Given the description of an element on the screen output the (x, y) to click on. 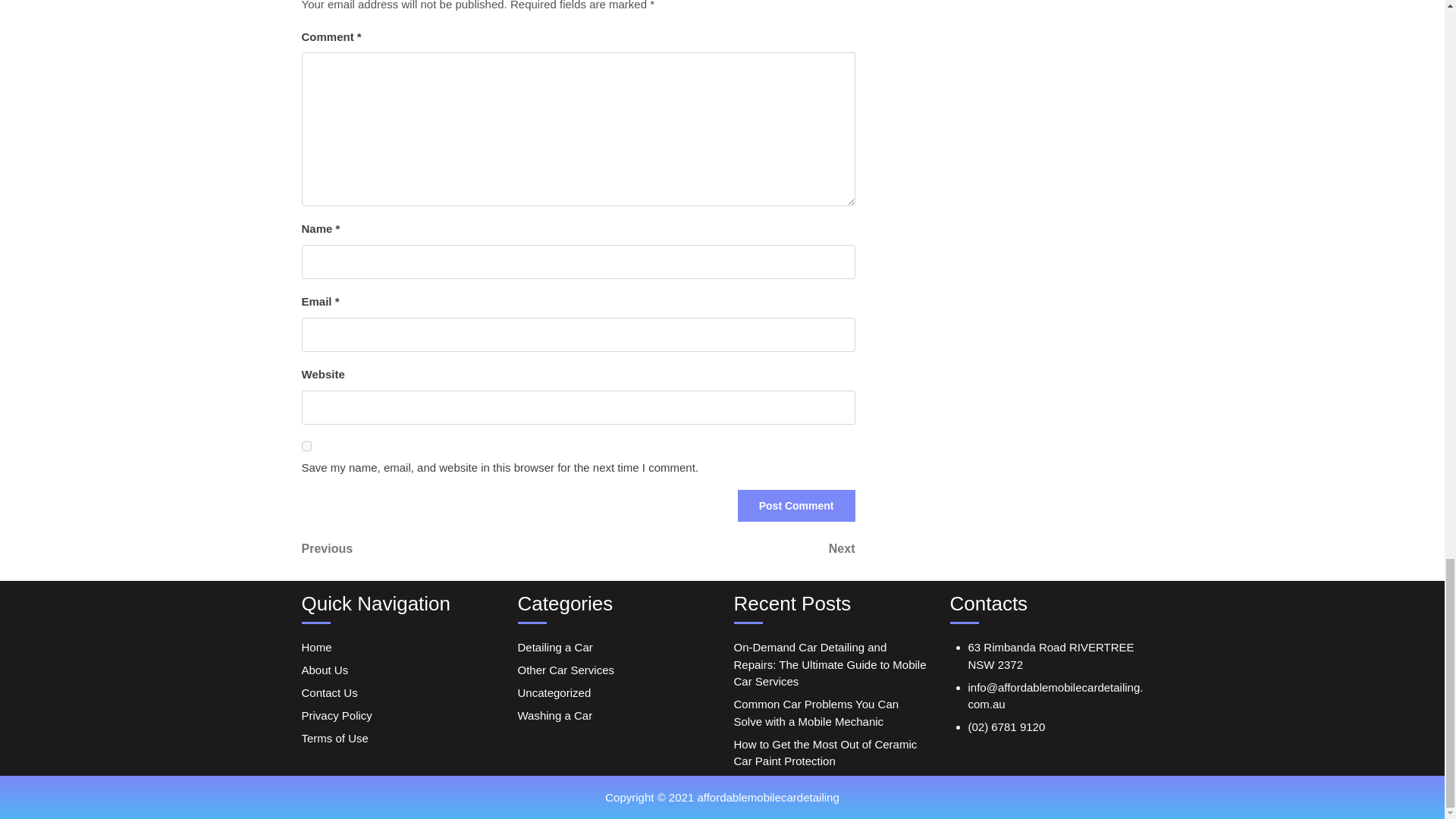
Contact Us (329, 692)
Post Comment (797, 505)
Terms of Use (334, 738)
Privacy Policy (336, 715)
Home (316, 646)
Other Car Services (565, 669)
Uncategorized (553, 692)
Post Comment (716, 548)
Detailing a Car (797, 505)
